Given the description of an element on the screen output the (x, y) to click on. 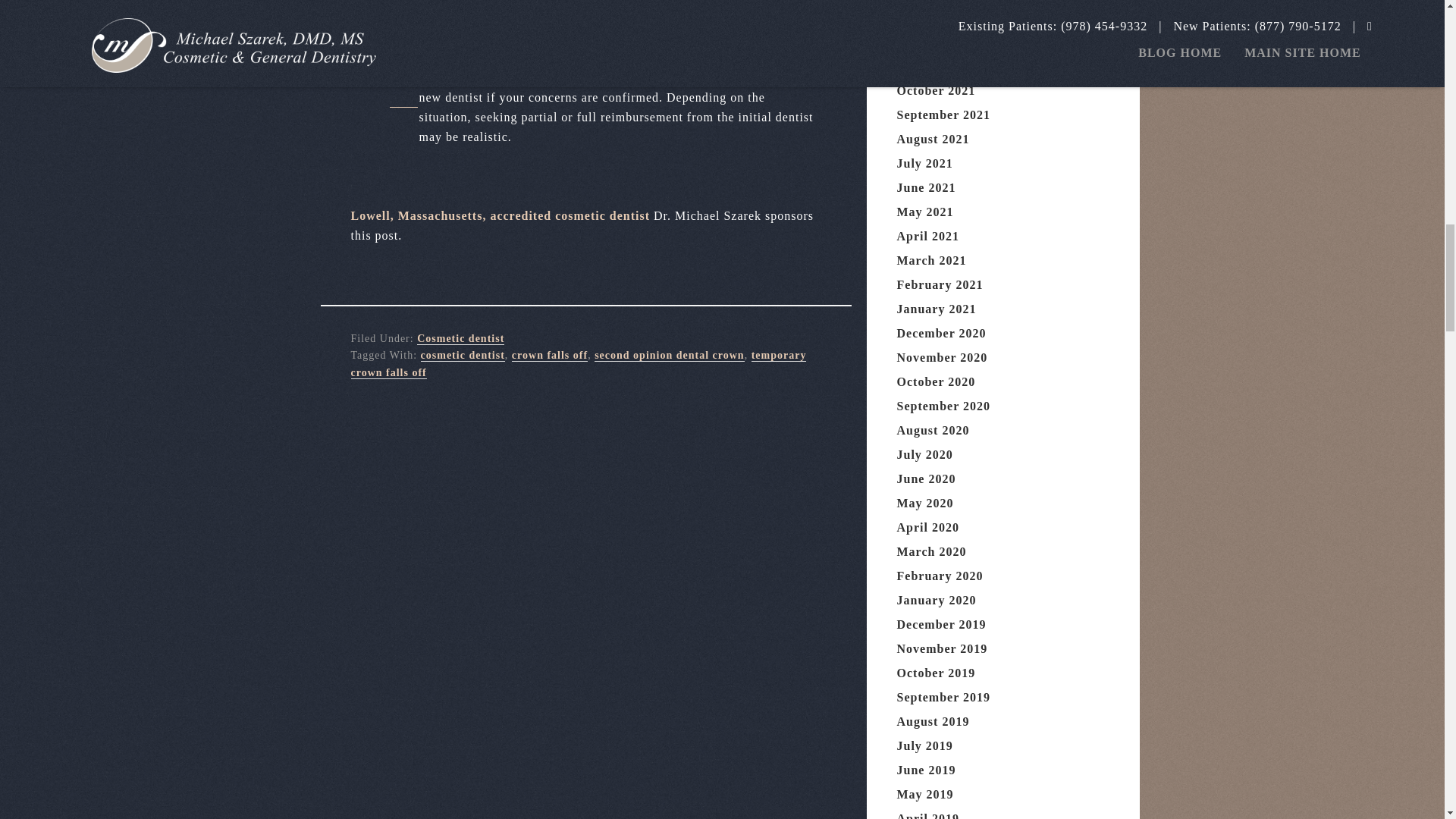
Lowell, Massachusetts, accredited cosmetic dentist (499, 215)
crown falls off (550, 355)
second opinion dental crown (669, 355)
cosmetic dentist (462, 355)
temporary crown falls off (578, 364)
Cosmetic dentist (459, 338)
